Given the description of an element on the screen output the (x, y) to click on. 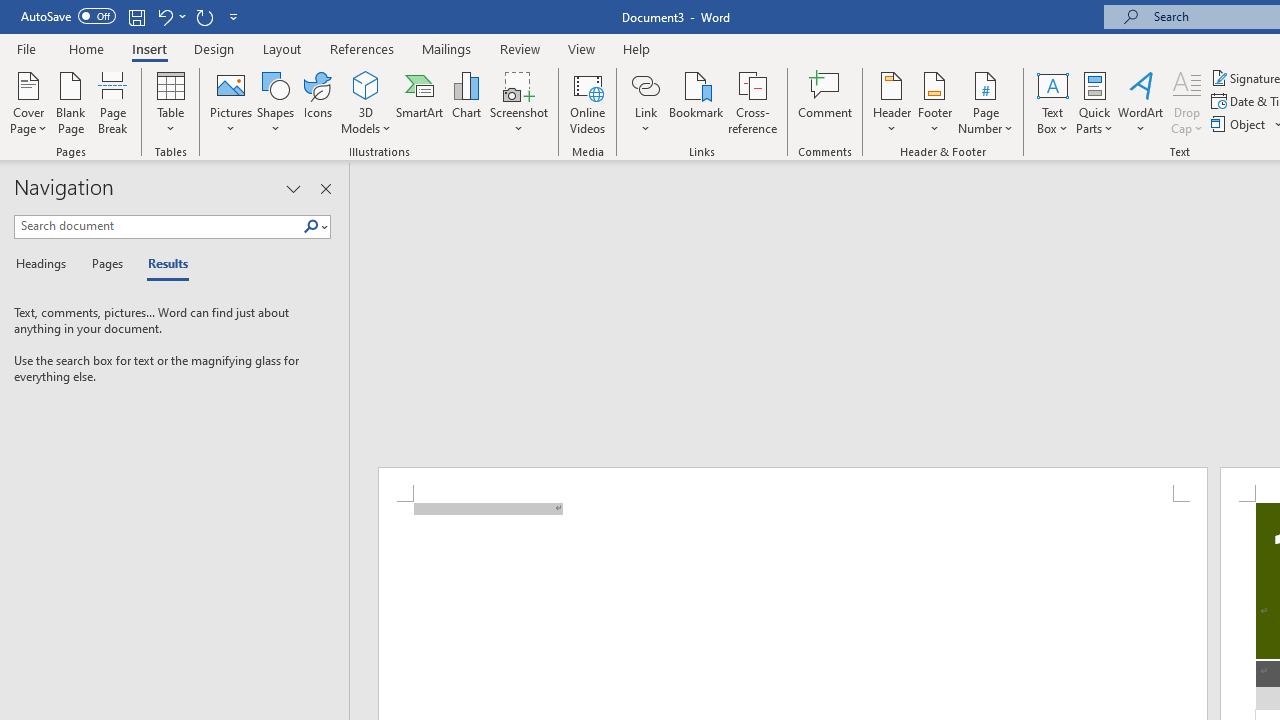
Undo New Page (170, 15)
Text Box (1052, 102)
Shapes (275, 102)
Object... (1240, 124)
Page Break (113, 102)
Blank Page (70, 102)
